Given the description of an element on the screen output the (x, y) to click on. 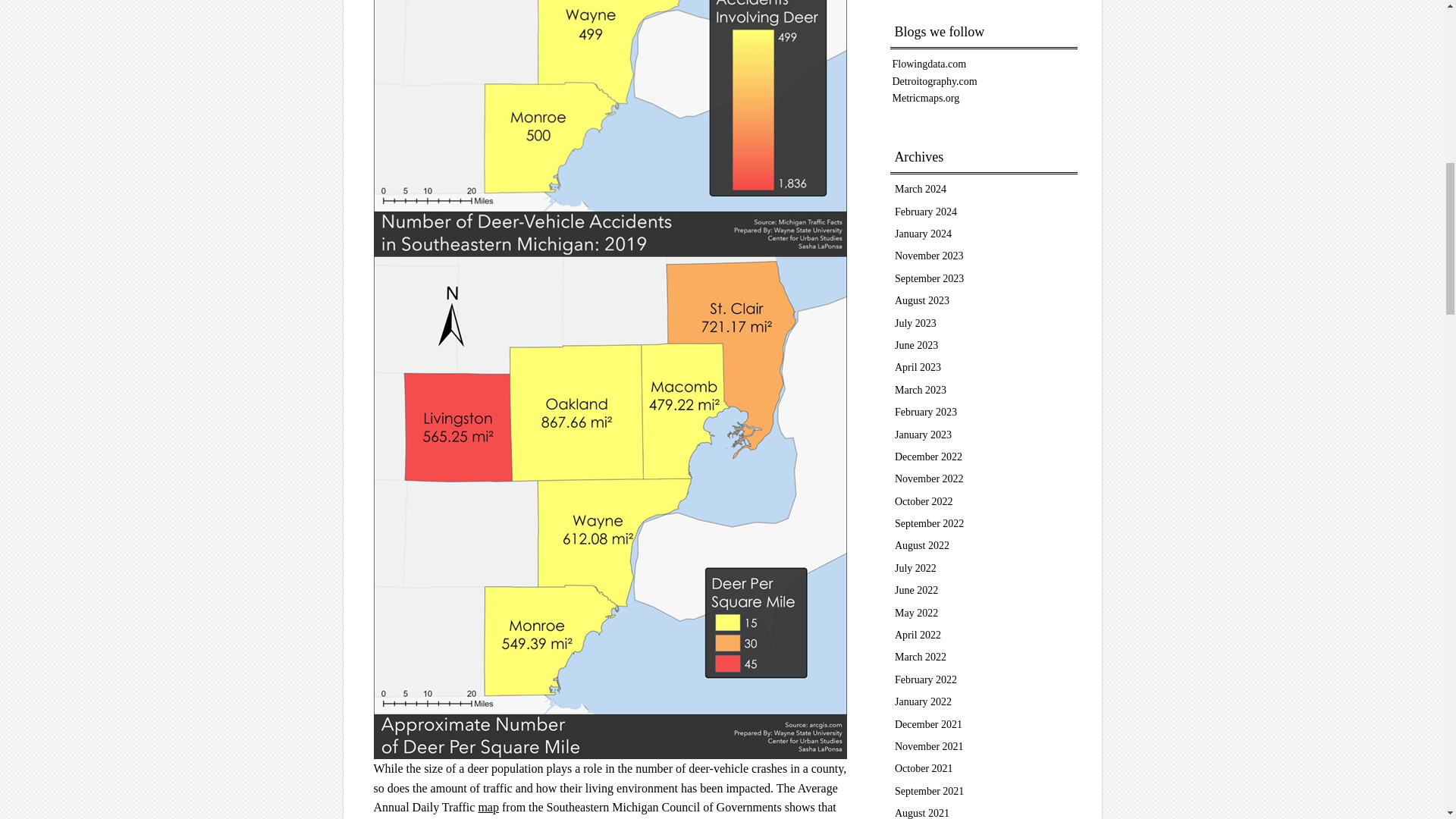
February 2024 (925, 211)
September 2023 (929, 278)
March 2024 (920, 188)
November 2023 (929, 255)
map (488, 807)
January 2024 (923, 233)
August 2023 (922, 300)
